Given the description of an element on the screen output the (x, y) to click on. 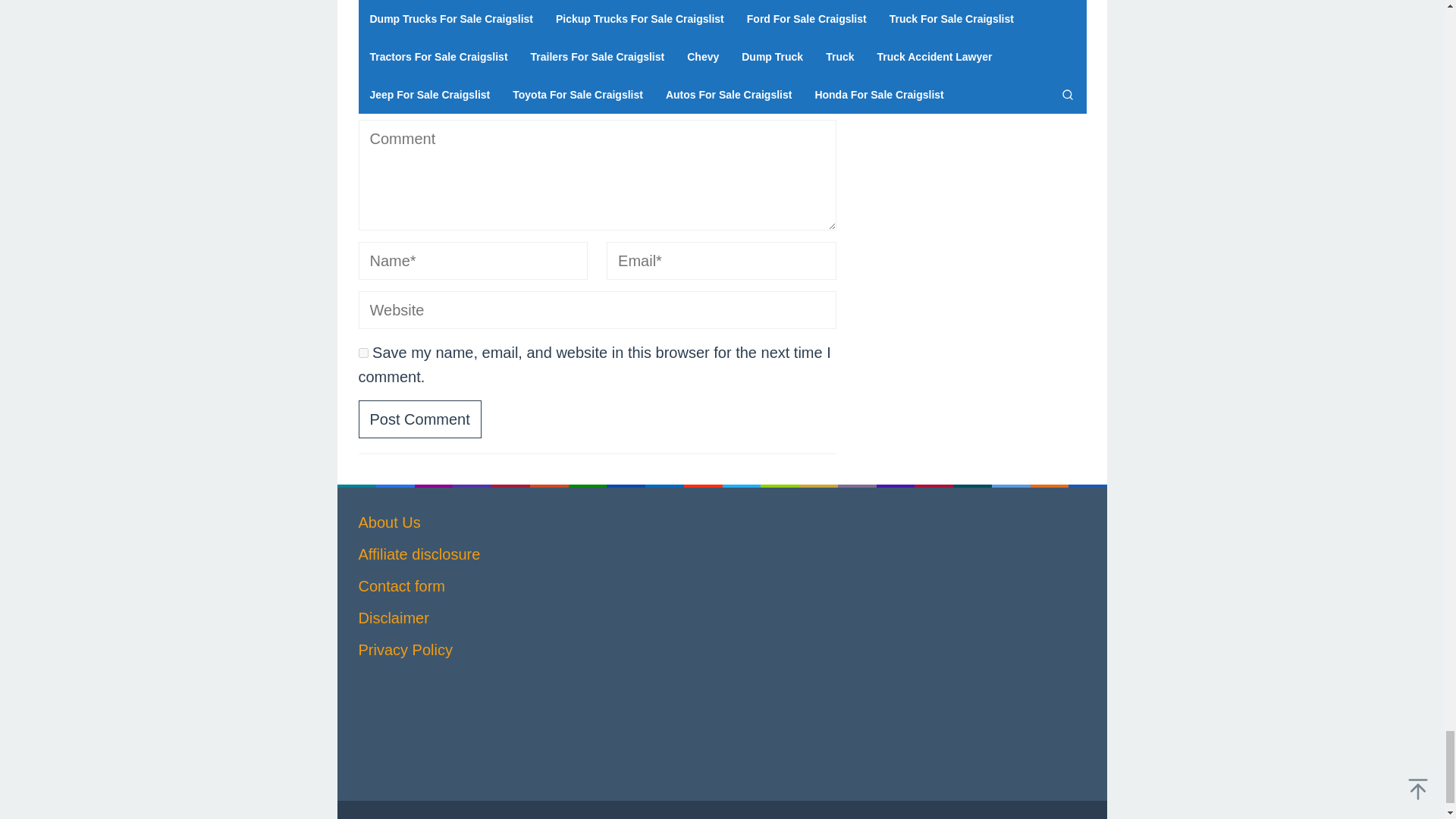
Post Comment (419, 419)
yes (363, 352)
